Given the description of an element on the screen output the (x, y) to click on. 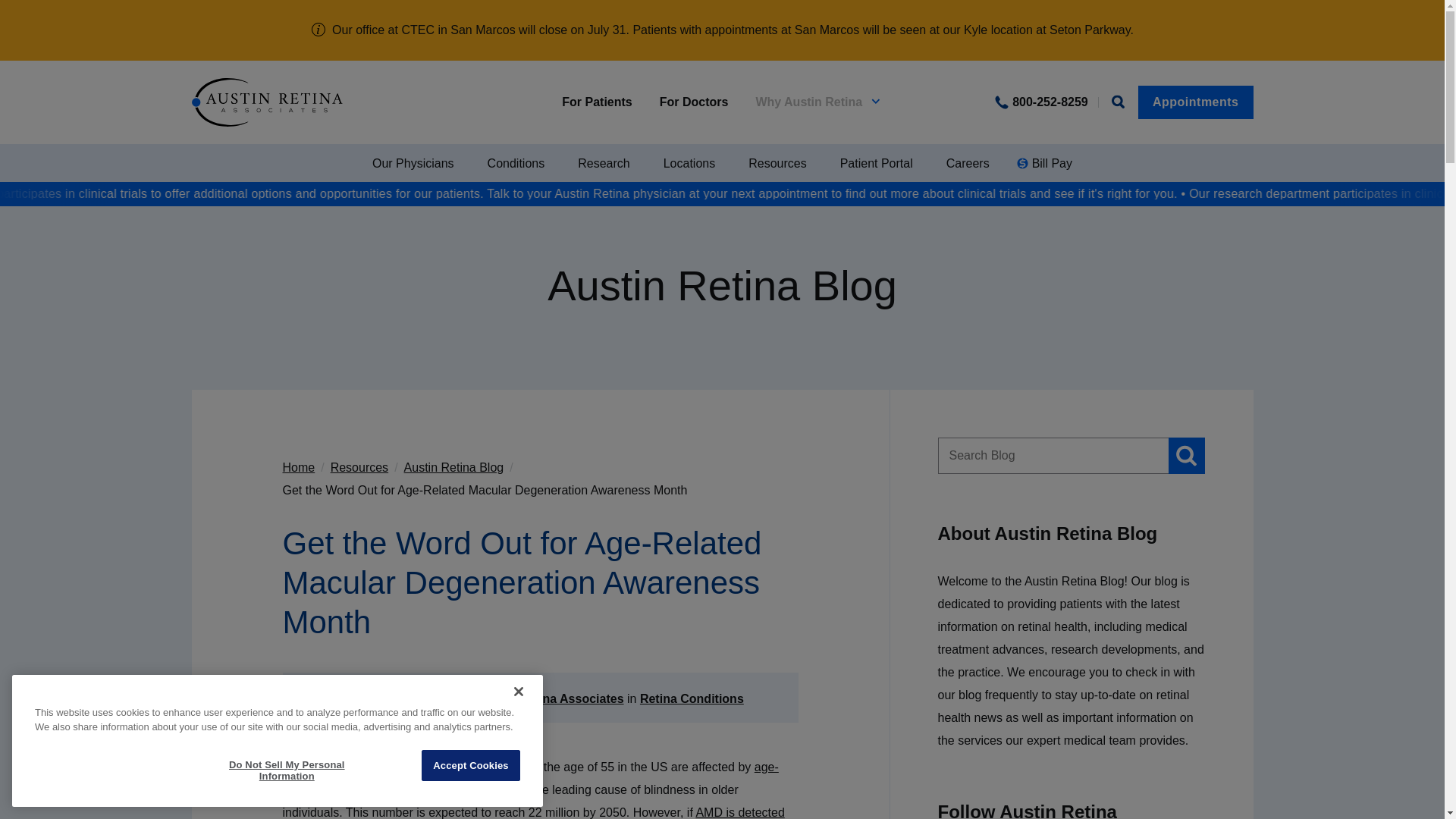
Skip To Content (88, 41)
For Doctors (694, 101)
800-252-8259 (1041, 101)
For Patients (596, 101)
Skip To Content (88, 41)
Why Austin Retina (817, 102)
